Given the description of an element on the screen output the (x, y) to click on. 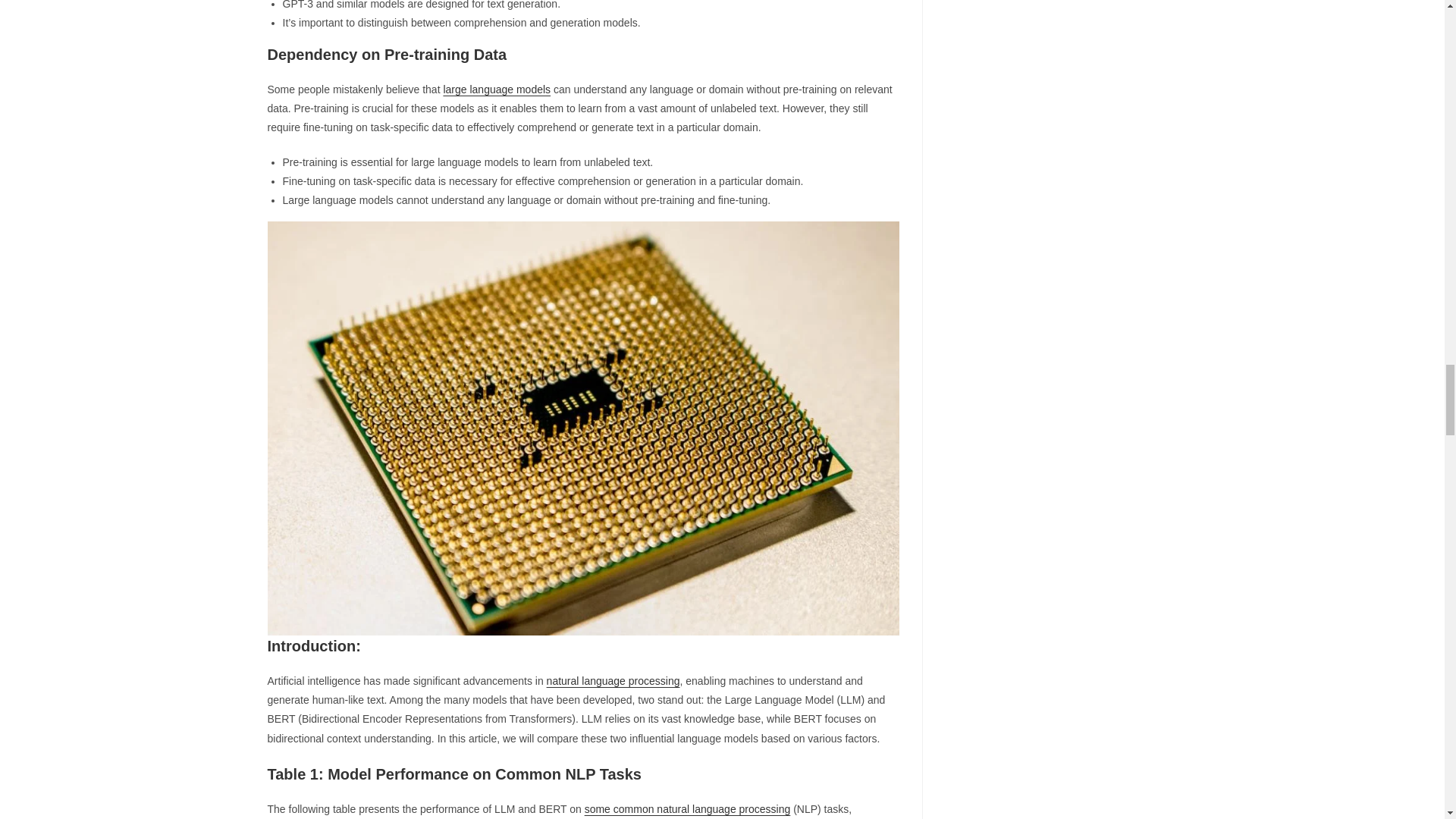
some common natural language processing (687, 808)
large language models (496, 89)
natural language processing (613, 680)
